Given the description of an element on the screen output the (x, y) to click on. 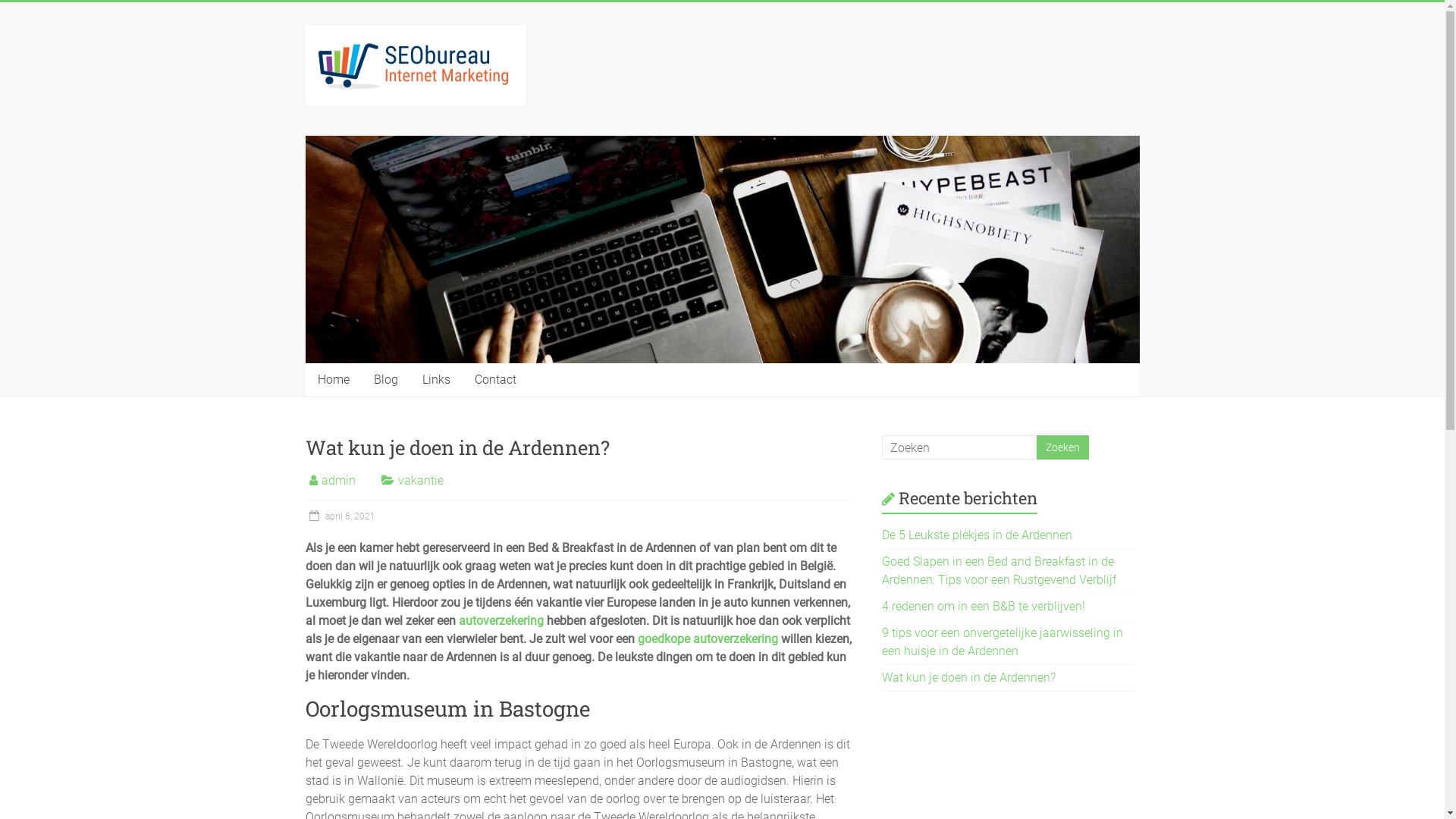
autoverzekering Element type: text (500, 620)
Wat kun je doen in de Ardennen? Element type: text (968, 677)
De 5 Leukste plekjes in de Ardennen Element type: text (976, 534)
Blog Element type: text (384, 379)
Bed And Breakfast Ardennen Element type: text (370, 89)
Contact Element type: text (495, 379)
admin Element type: text (338, 480)
Home Element type: text (332, 379)
goedkope autoverzekering Element type: text (707, 638)
Zoeken Element type: text (1061, 447)
vakantie Element type: text (419, 480)
4 redenen om in een B&B te verblijven! Element type: text (983, 606)
Links Element type: text (435, 379)
april 6, 2021 Element type: text (339, 516)
